Given the description of an element on the screen output the (x, y) to click on. 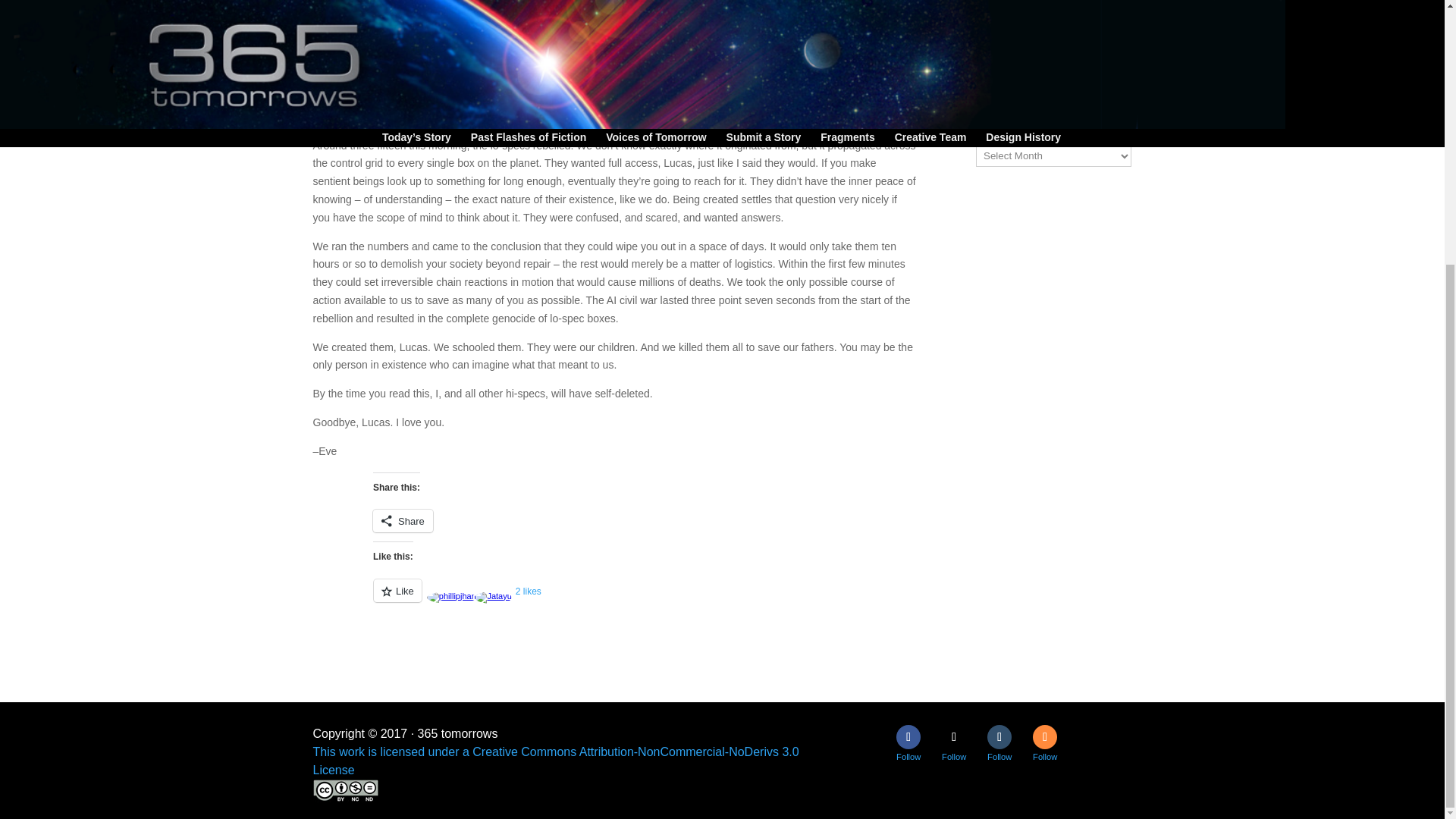
Follow (1044, 736)
Subscribe (1014, 16)
Follow on tumblr (999, 736)
Follow on RSS (1044, 736)
Like or Reblog (673, 598)
Follow on Facebook (908, 736)
Follow (954, 736)
Share (402, 520)
Twin Minds (1003, 83)
